Given the description of an element on the screen output the (x, y) to click on. 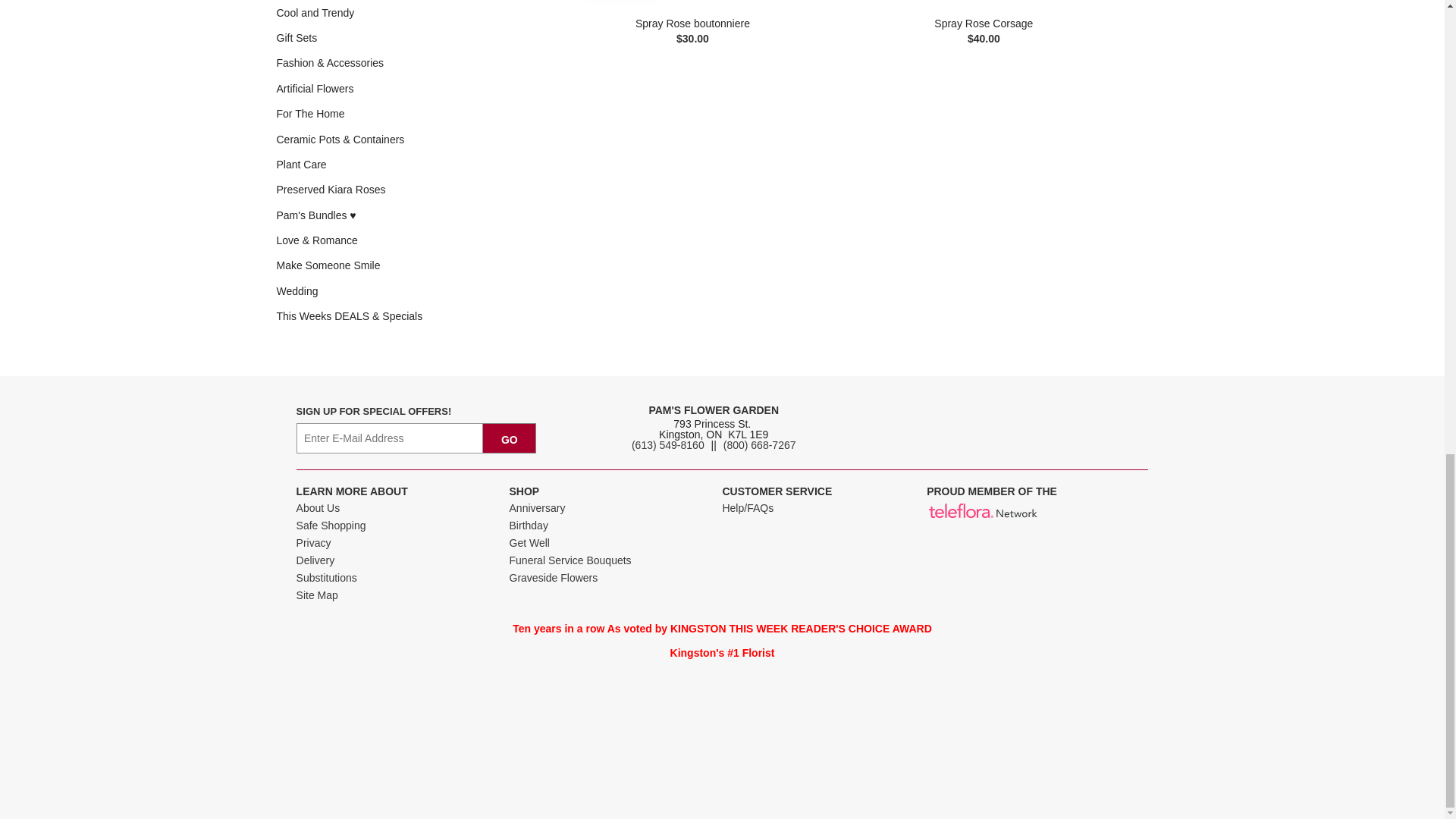
Email Sign up (390, 438)
Go (509, 438)
go (509, 438)
